Given the description of an element on the screen output the (x, y) to click on. 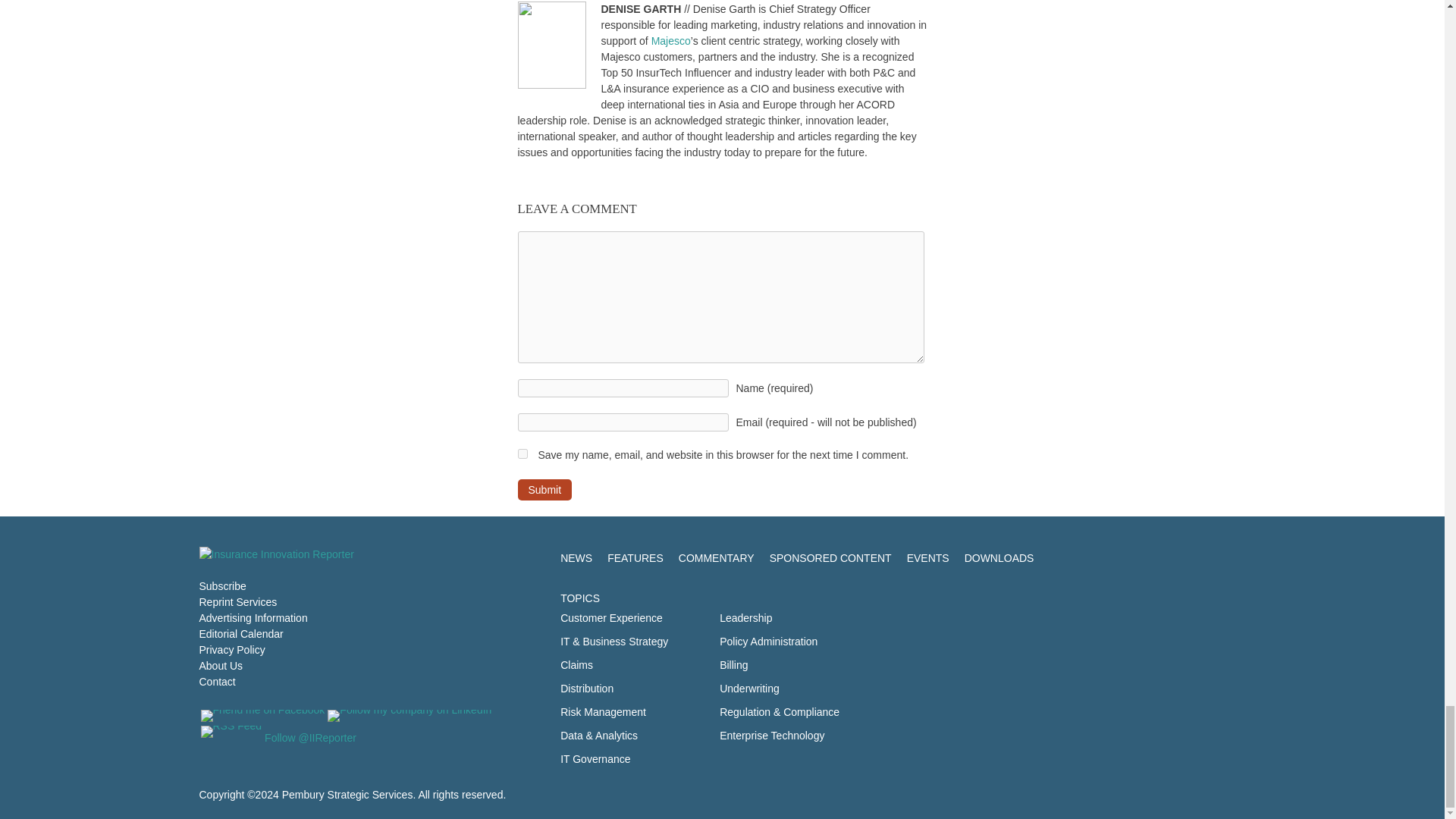
RSS Feed (231, 731)
Friend me on Facebook (262, 715)
Follow my company on LinkedIn (409, 715)
yes (521, 453)
Submit (544, 489)
